Given the description of an element on the screen output the (x, y) to click on. 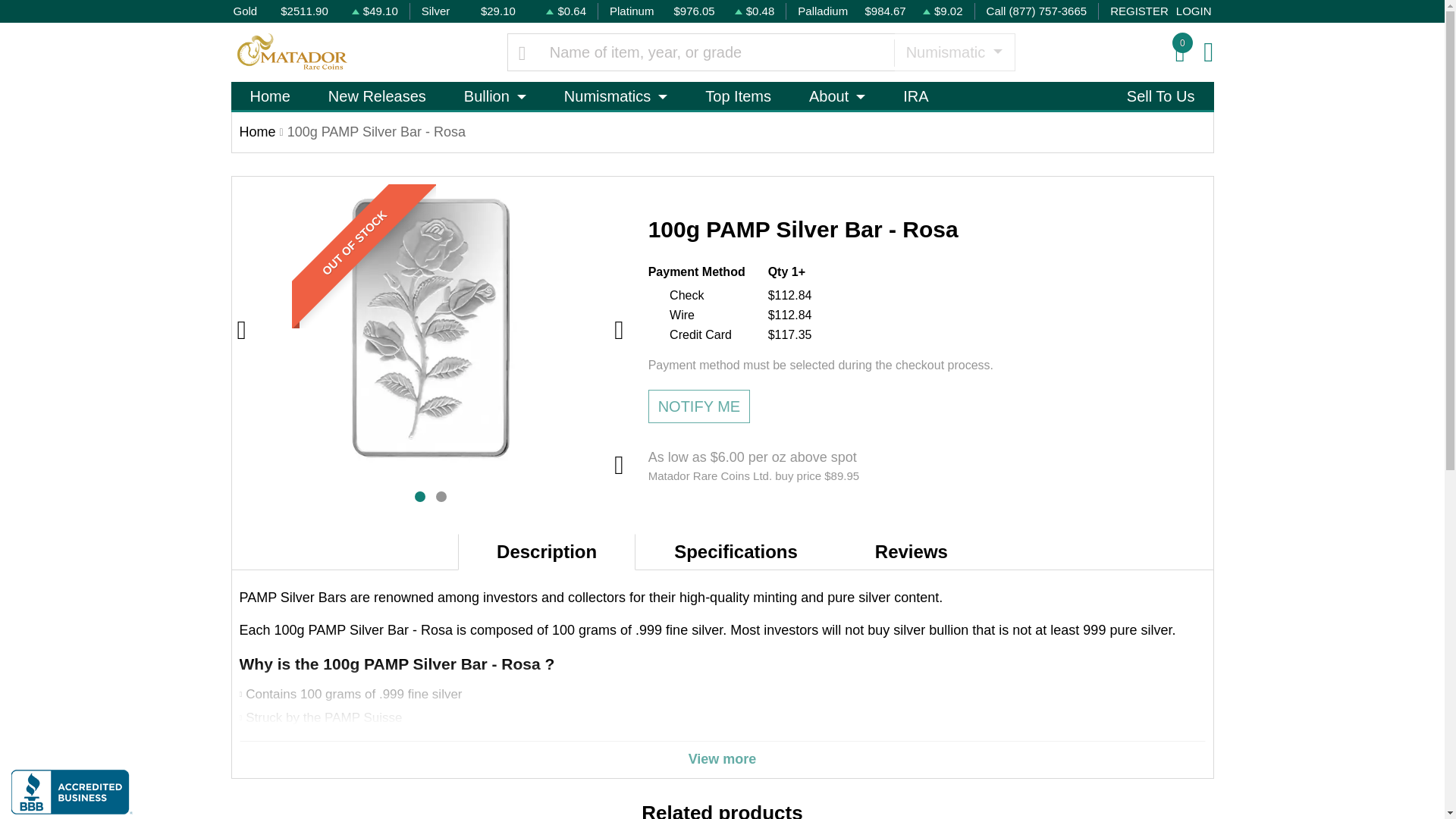
REGISTER (1139, 11)
New Releases (376, 95)
Bullion (494, 95)
Numismatic (953, 52)
Home (269, 95)
LOGIN (1193, 11)
